Given the description of an element on the screen output the (x, y) to click on. 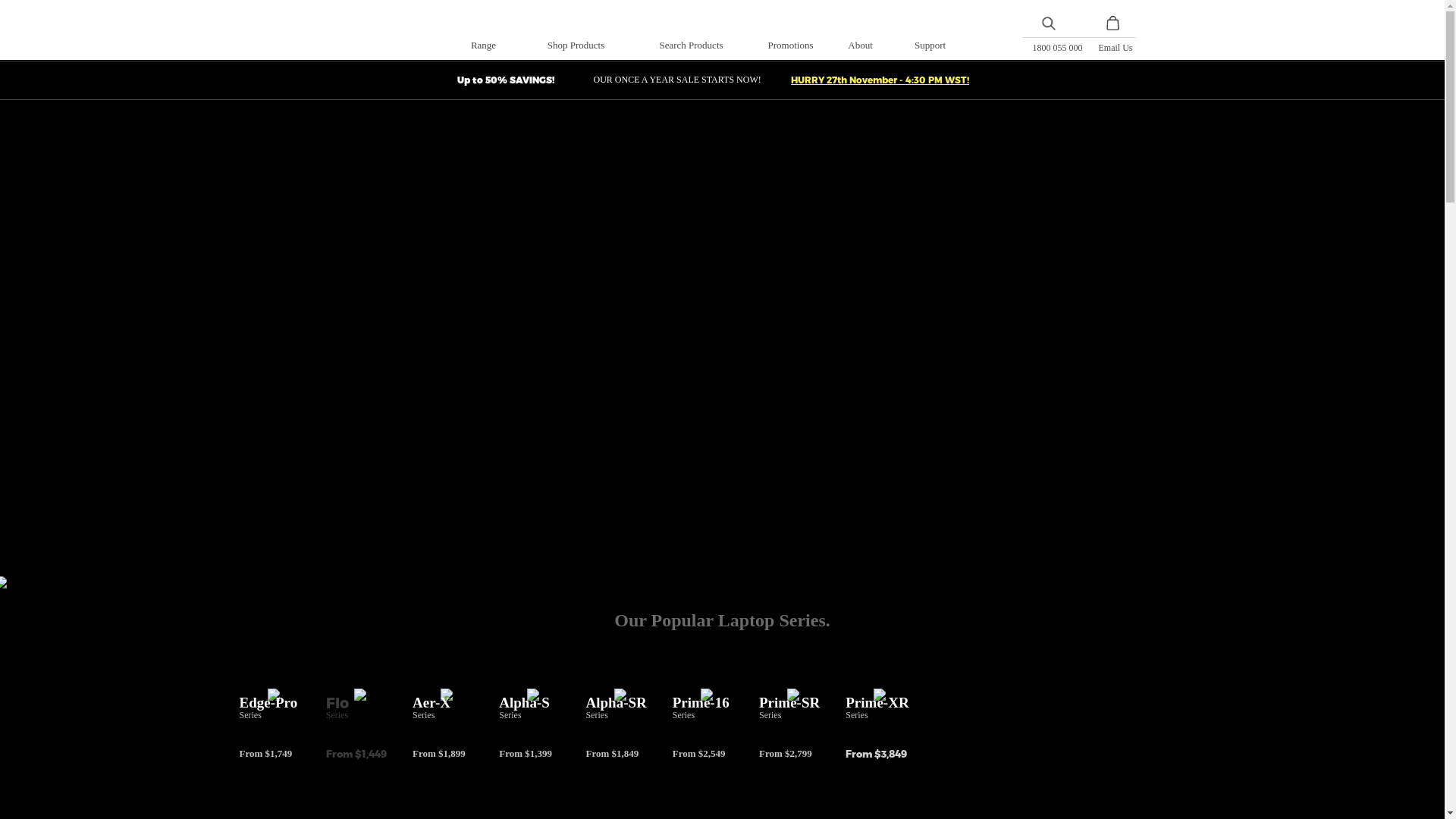
Promotions Element type: text (790, 44)
Search Products Element type: text (690, 44)
About Element type: text (859, 44)
1800 055 000       Email Us Element type: text (1082, 46)
